Given the description of an element on the screen output the (x, y) to click on. 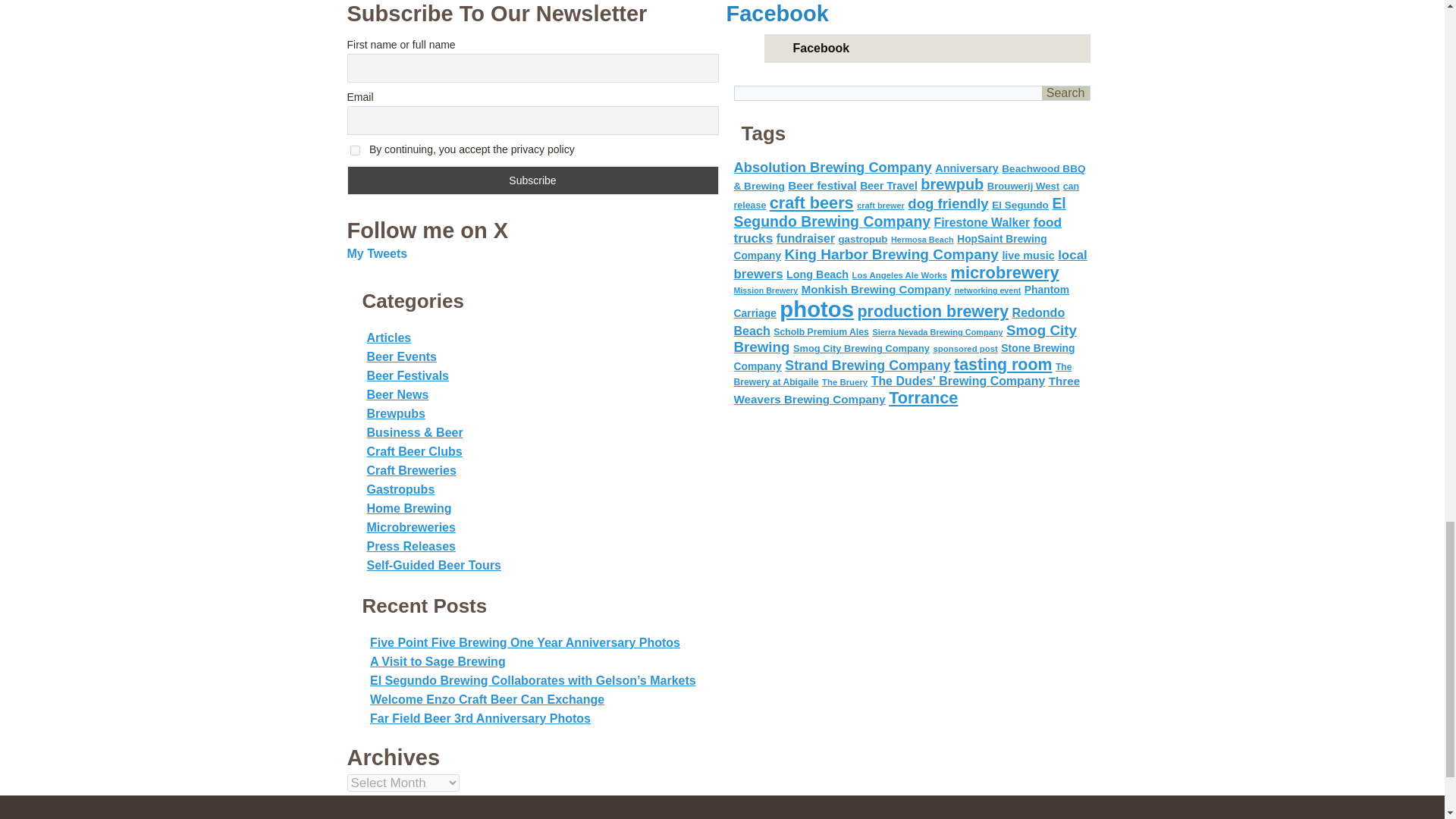
on (354, 150)
Search (1065, 92)
Search (1065, 92)
Subscribe (533, 180)
